Given the description of an element on the screen output the (x, y) to click on. 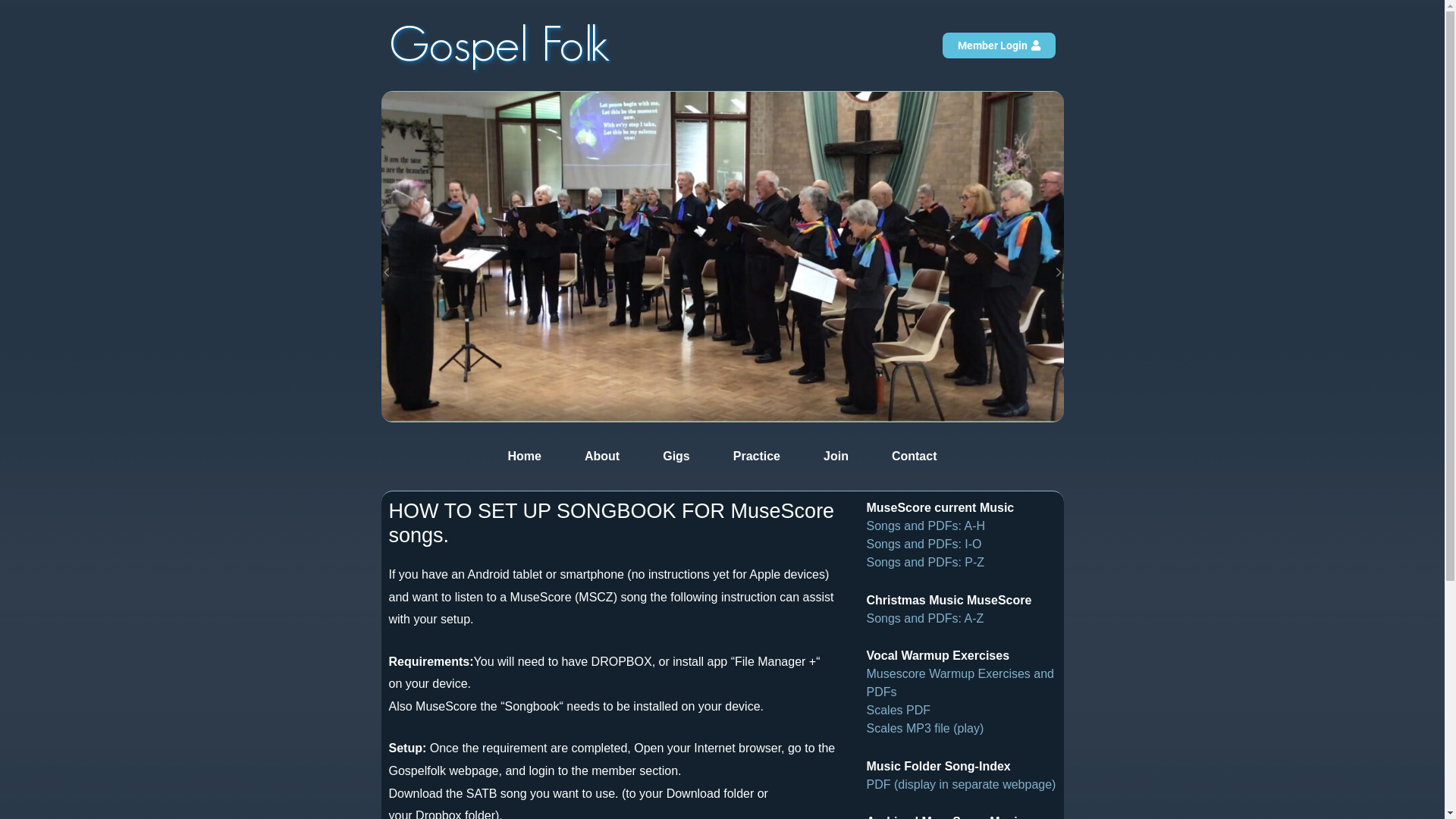
PDF (display in separate webpage) Element type: text (960, 784)
Songs and PDFs: A-H Element type: text (925, 525)
Contact Element type: text (914, 456)
Songs and PDFs: P-Z Element type: text (925, 561)
Gigs Element type: text (676, 456)
Home Element type: text (524, 456)
Member Login Element type: text (998, 45)
Songs and PDFs: I-O Element type: text (923, 543)
Musescore Warmup Exercises and PDFs Element type: text (960, 682)
Songs and PDFs: A-Z Element type: text (924, 617)
Practice Element type: text (756, 456)
Join Element type: text (835, 456)
Scales PDF Element type: text (897, 709)
Scales MP3 file (play) Element type: text (924, 727)
About Element type: text (601, 456)
